Given the description of an element on the screen output the (x, y) to click on. 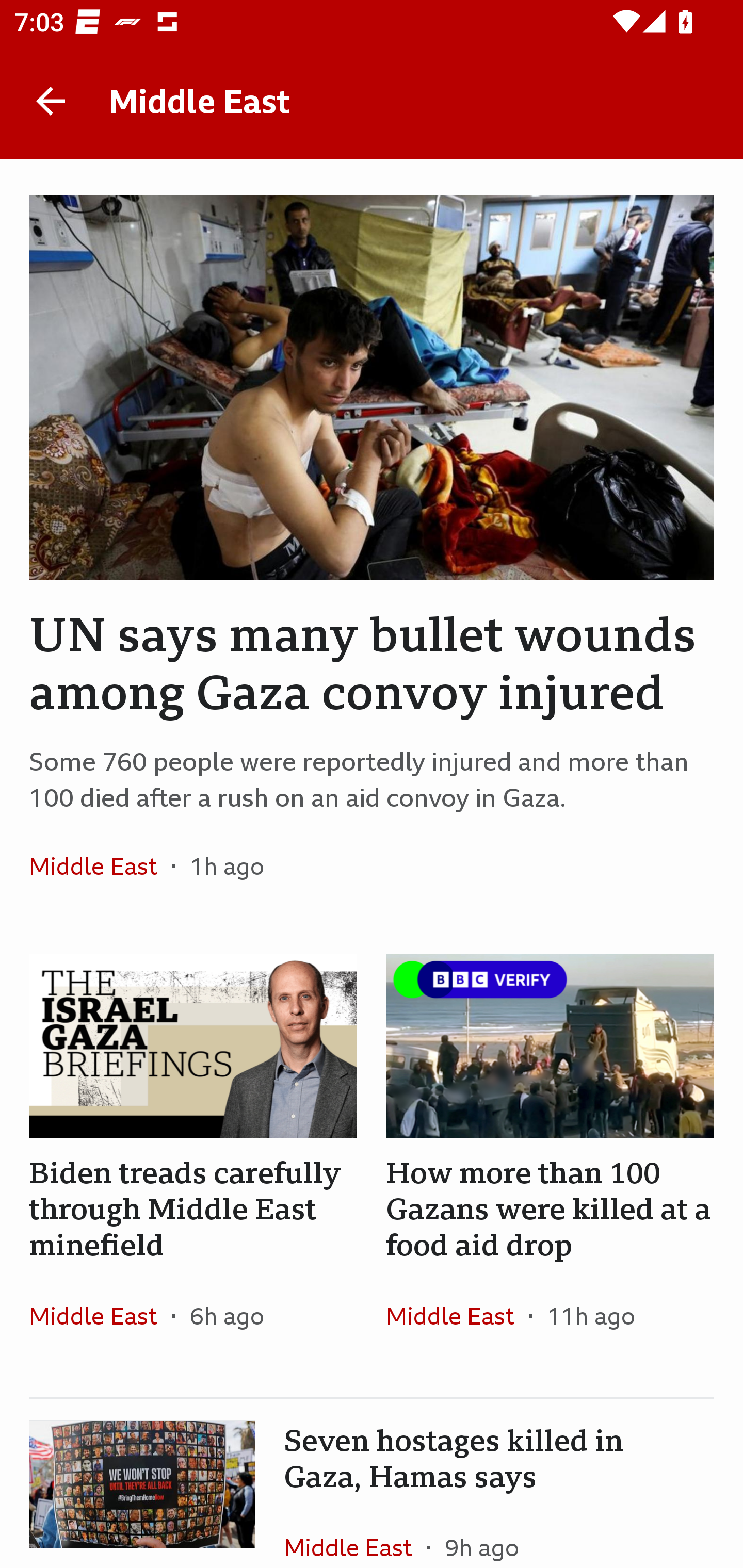
Back (50, 101)
Middle East In the section Middle East (99, 865)
Middle East In the section Middle East (99, 1315)
Middle East In the section Middle East (457, 1315)
Middle East In the section Middle East (354, 1531)
